Given the description of an element on the screen output the (x, y) to click on. 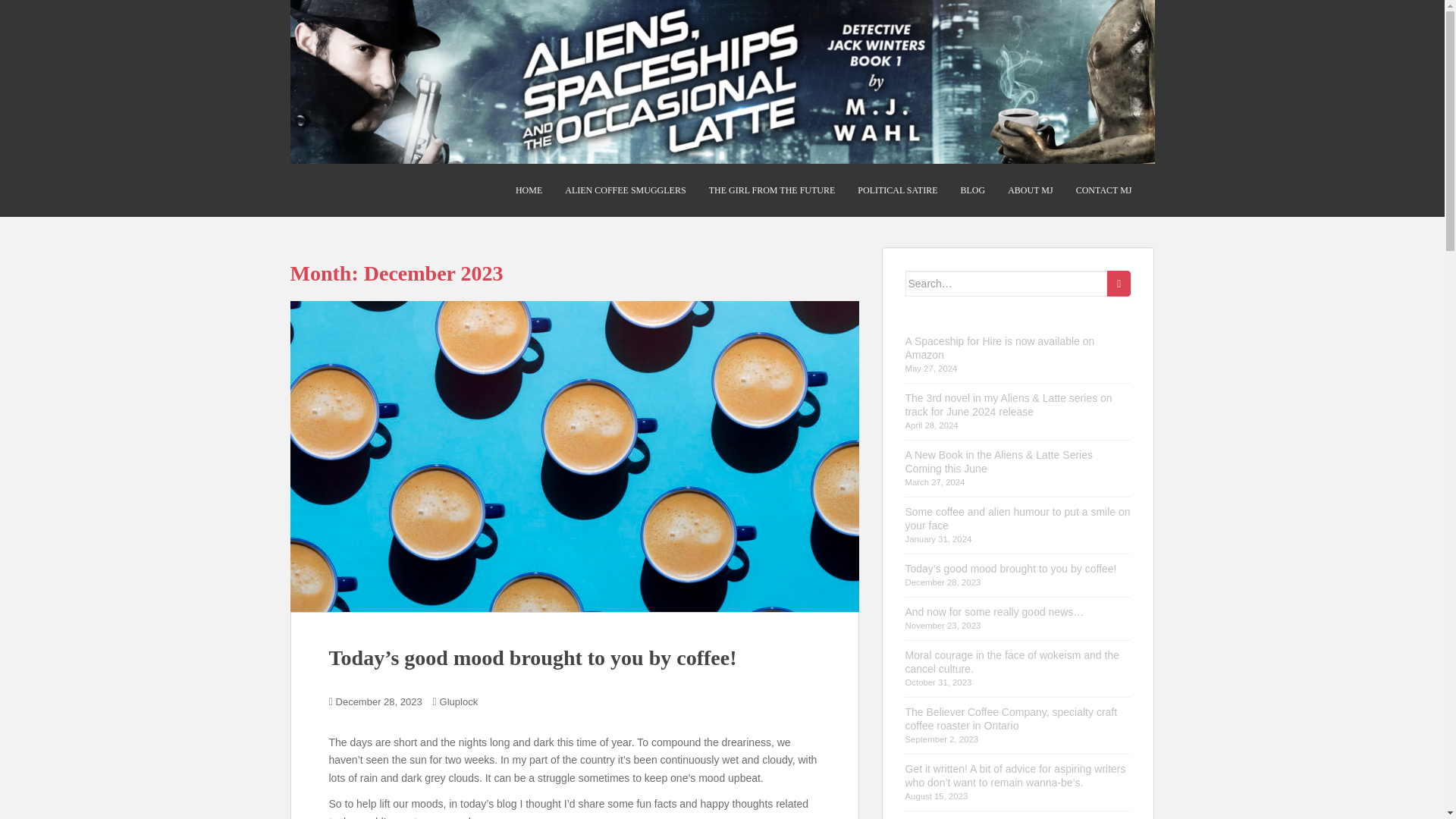
THE GIRL FROM THE FUTURE (772, 190)
Search for: (1006, 283)
Gluplock (459, 701)
Search (1118, 283)
Some coffee and alien humour to put a smile on your face (1018, 518)
ALIEN COFFEE SMUGGLERS (624, 190)
Jack Winters (624, 190)
A Spaceship for Hire is now available on Amazon (999, 347)
POLITICAL SATIRE (897, 190)
December 28, 2023 (379, 701)
